Given the description of an element on the screen output the (x, y) to click on. 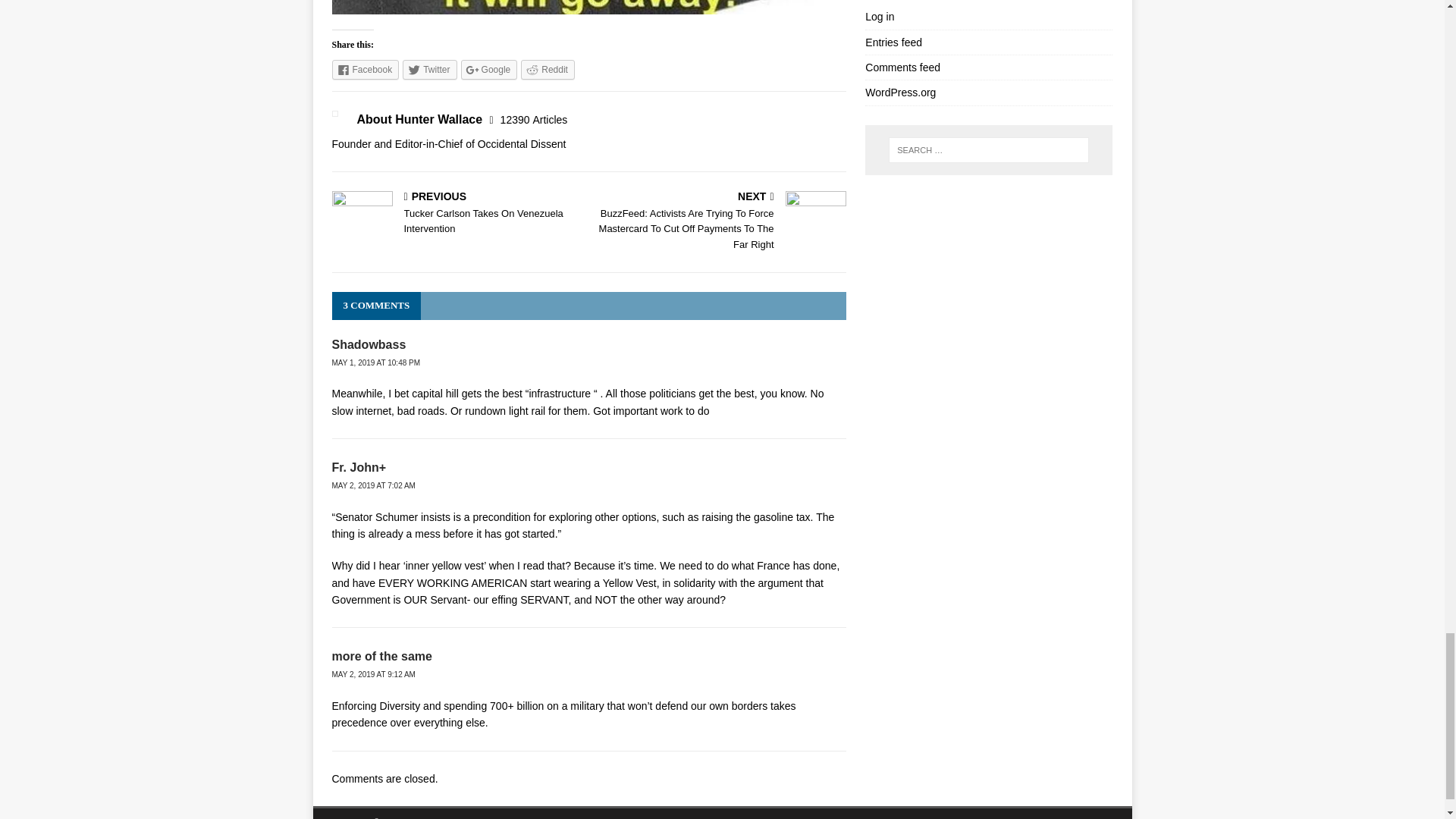
Click to share on Reddit (548, 69)
Facebook (364, 69)
Click to share on Twitter (430, 69)
Click to share on Facebook (364, 69)
More articles written by Hunter Wallace' (533, 119)
